Given the description of an element on the screen output the (x, y) to click on. 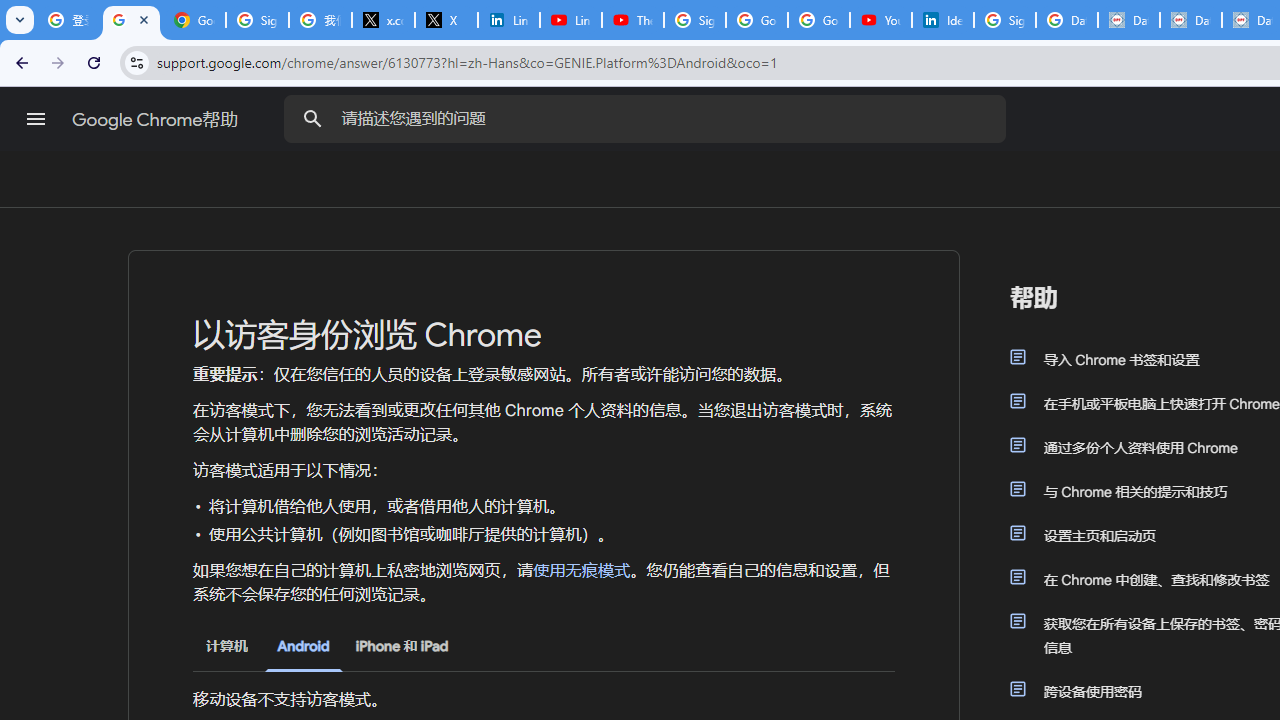
LinkedIn Privacy Policy (508, 20)
Identity verification via Persona | LinkedIn Help (942, 20)
LinkedIn - YouTube (570, 20)
Sign in - Google Accounts (694, 20)
